Given the description of an element on the screen output the (x, y) to click on. 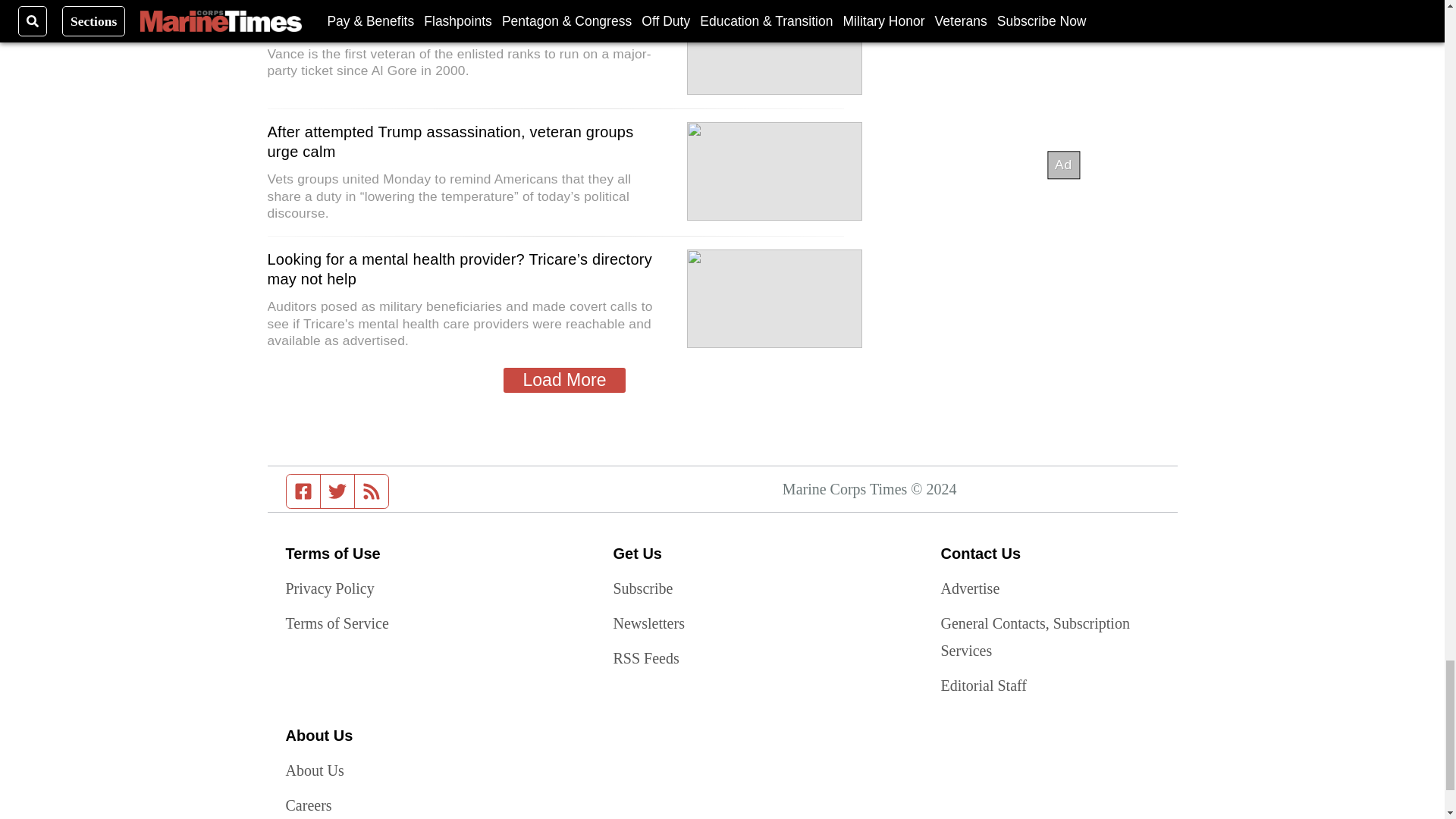
Facebook page (303, 491)
Twitter feed (336, 491)
RSS feed (371, 491)
